Given the description of an element on the screen output the (x, y) to click on. 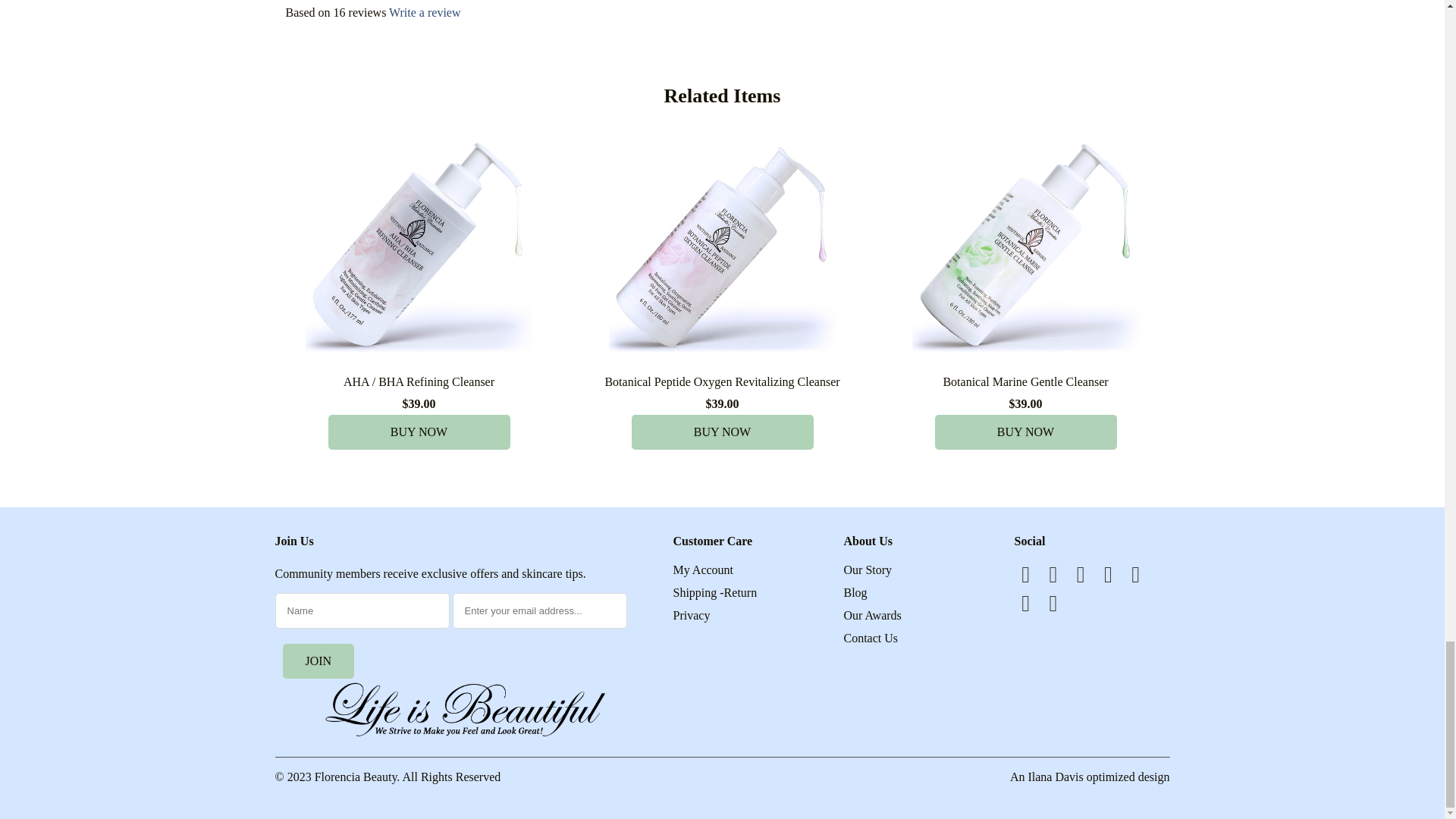
Buy now (418, 431)
Join (317, 660)
Buy now (1025, 431)
Buy now (721, 431)
